Given the description of an element on the screen output the (x, y) to click on. 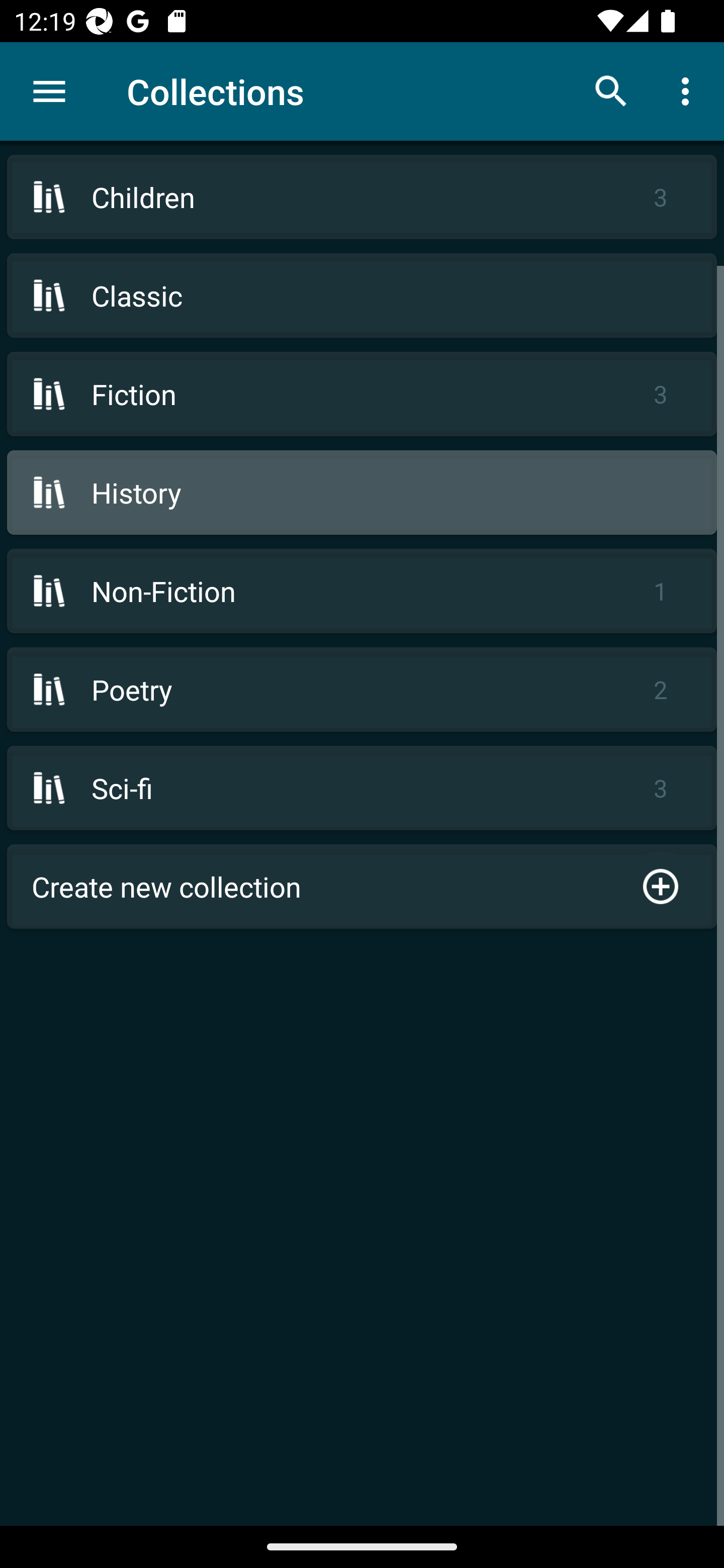
Menu (49, 91)
Search books & documents (611, 90)
More options (688, 90)
Children 3 (361, 197)
Classic (361, 295)
Fiction 3 (361, 393)
History (361, 492)
Non-Fiction 1 (361, 590)
Poetry 2 (361, 689)
Sci-fi 3 (361, 787)
Create new collection (361, 885)
